Given the description of an element on the screen output the (x, y) to click on. 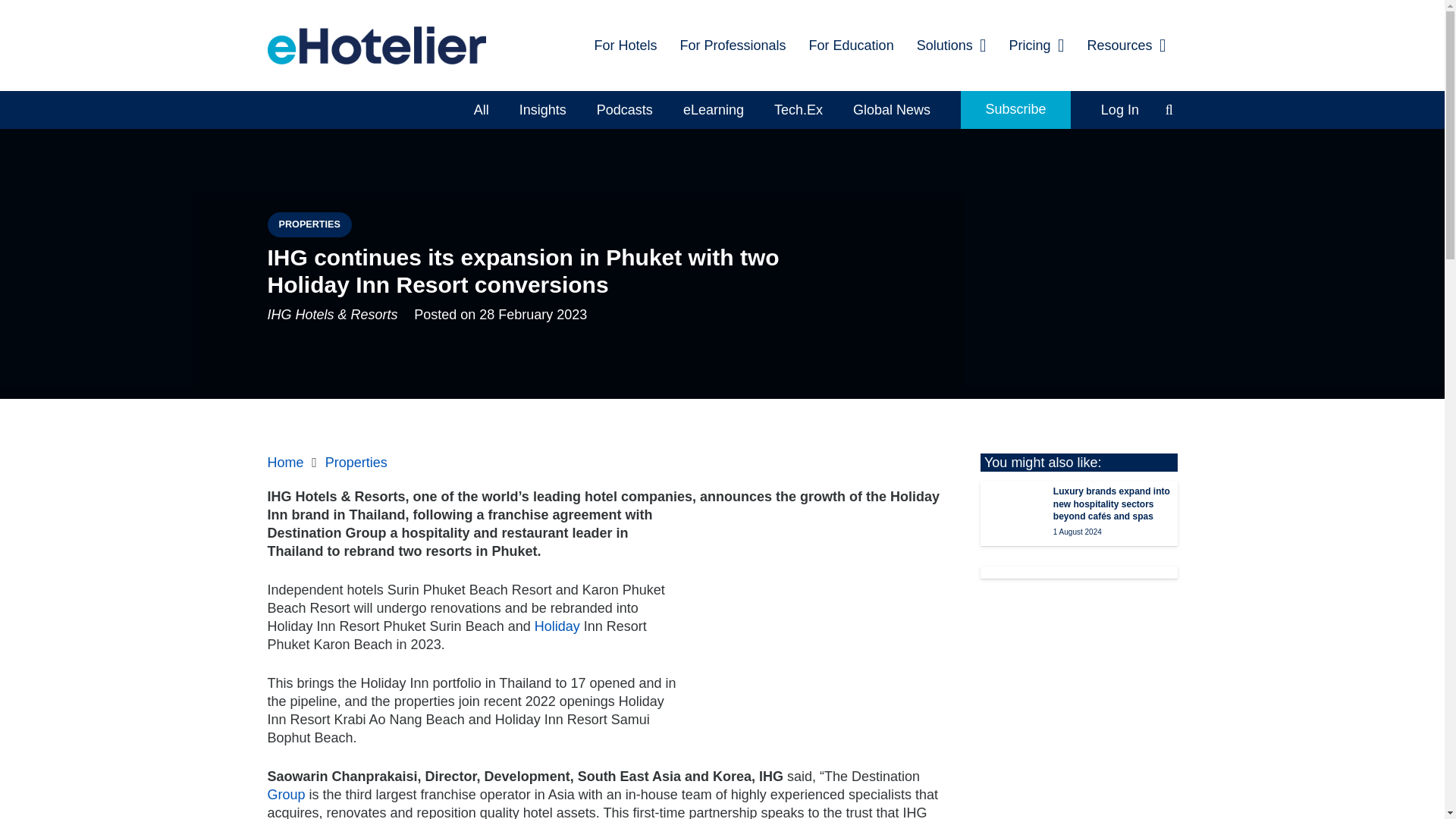
eLearning (713, 109)
For Professionals (732, 45)
Subscribe (1015, 109)
For Hotels (625, 45)
Resources (1126, 45)
Podcasts (624, 109)
Tech.Ex (798, 109)
Insights (541, 109)
Global News (891, 109)
Log In (1120, 109)
PROPERTIES (308, 224)
All (480, 109)
Solutions (951, 45)
For Education (851, 45)
